Given the description of an element on the screen output the (x, y) to click on. 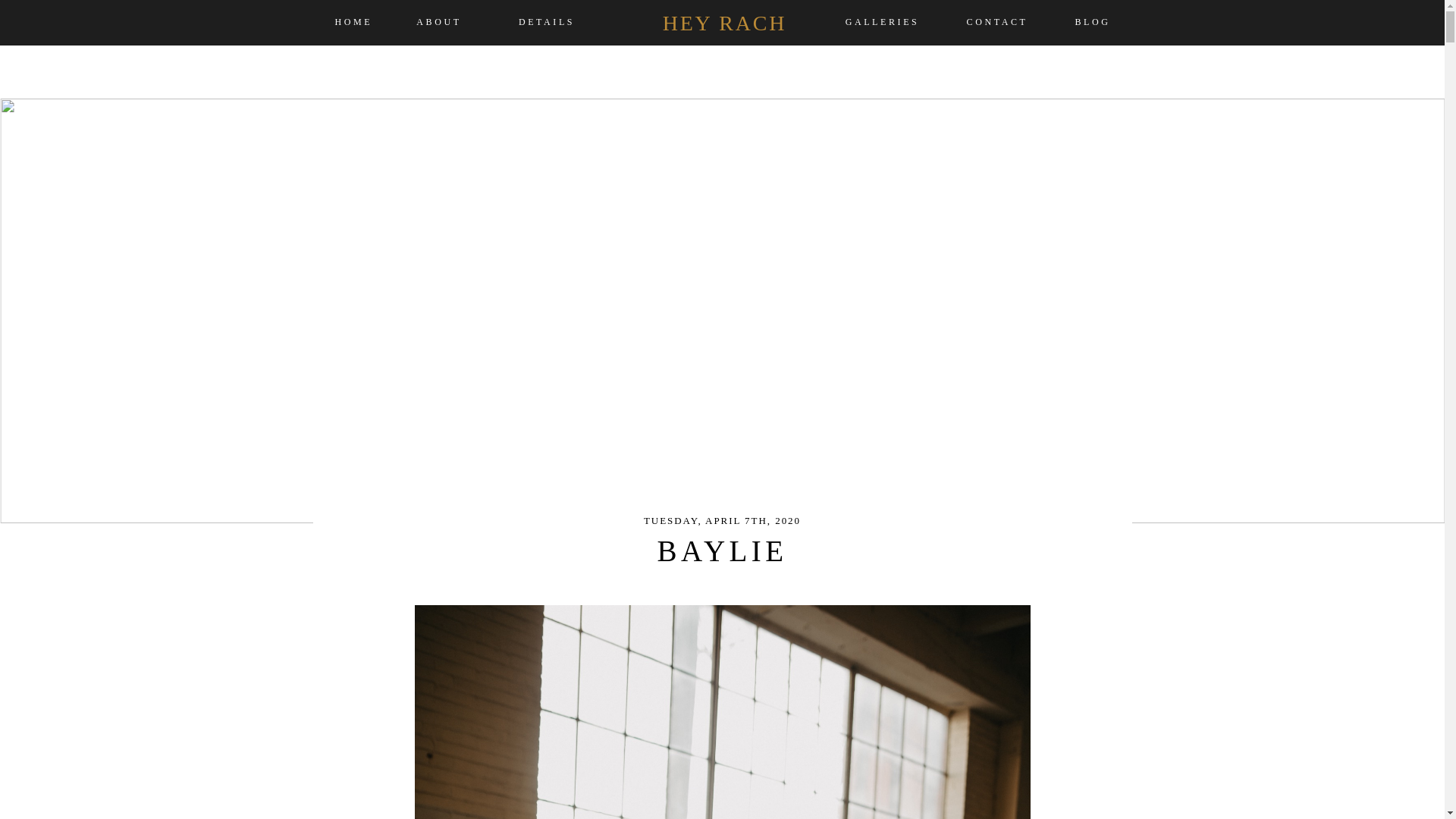
HOME (352, 22)
ABOUT (437, 22)
HEY RACH (724, 21)
GALLERIES (882, 22)
CONTACT (997, 22)
baylie-2-3 (721, 712)
BLOG (1092, 22)
DETAILS (547, 22)
